Given the description of an element on the screen output the (x, y) to click on. 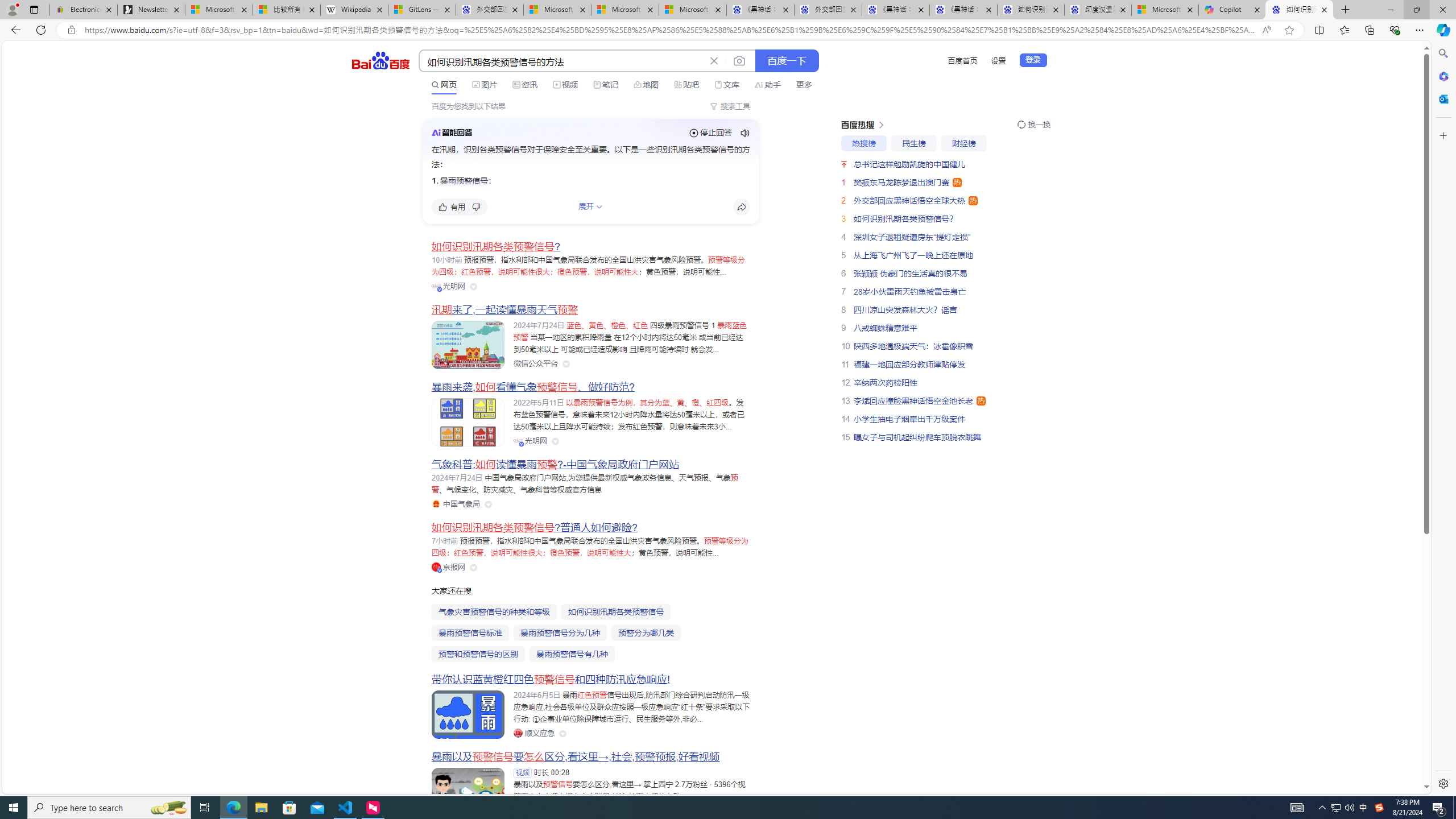
Split screen (1318, 29)
Newsletter Sign Up (150, 9)
Address and search bar (669, 29)
View site information (70, 29)
